Given the description of an element on the screen output the (x, y) to click on. 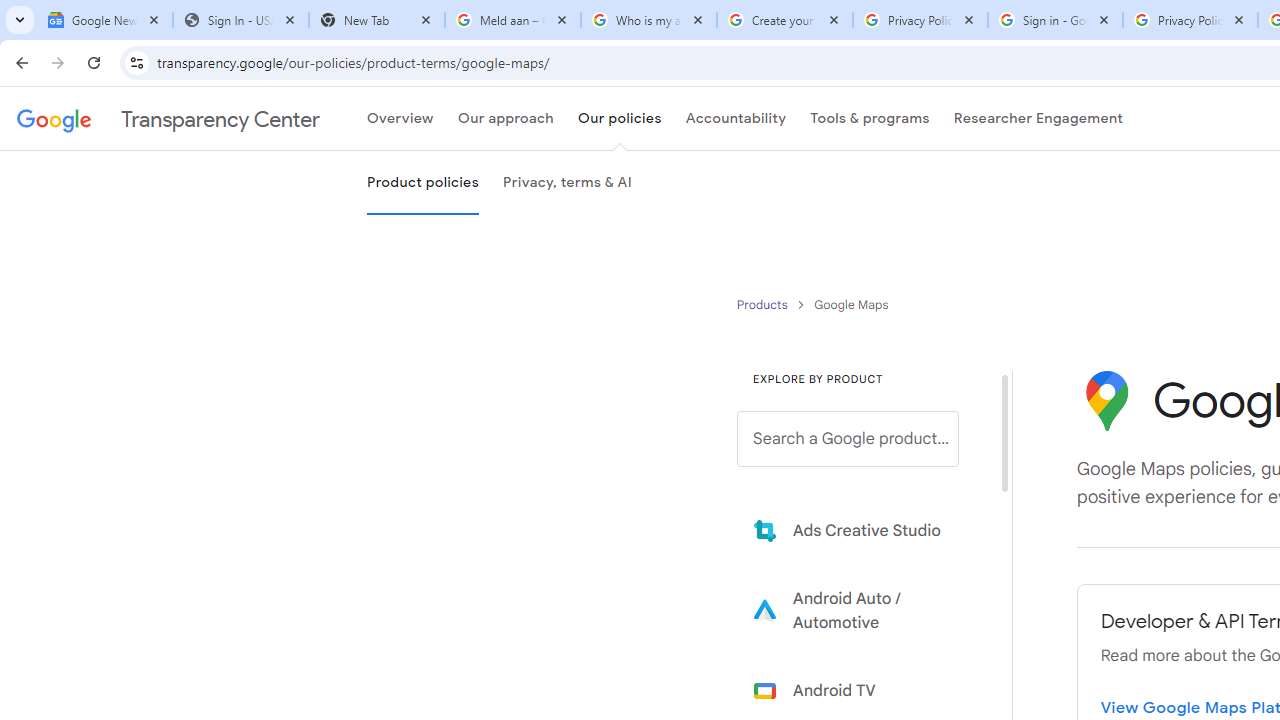
Sign In - USA TODAY (240, 20)
Create your Google Account (784, 20)
